Given the description of an element on the screen output the (x, y) to click on. 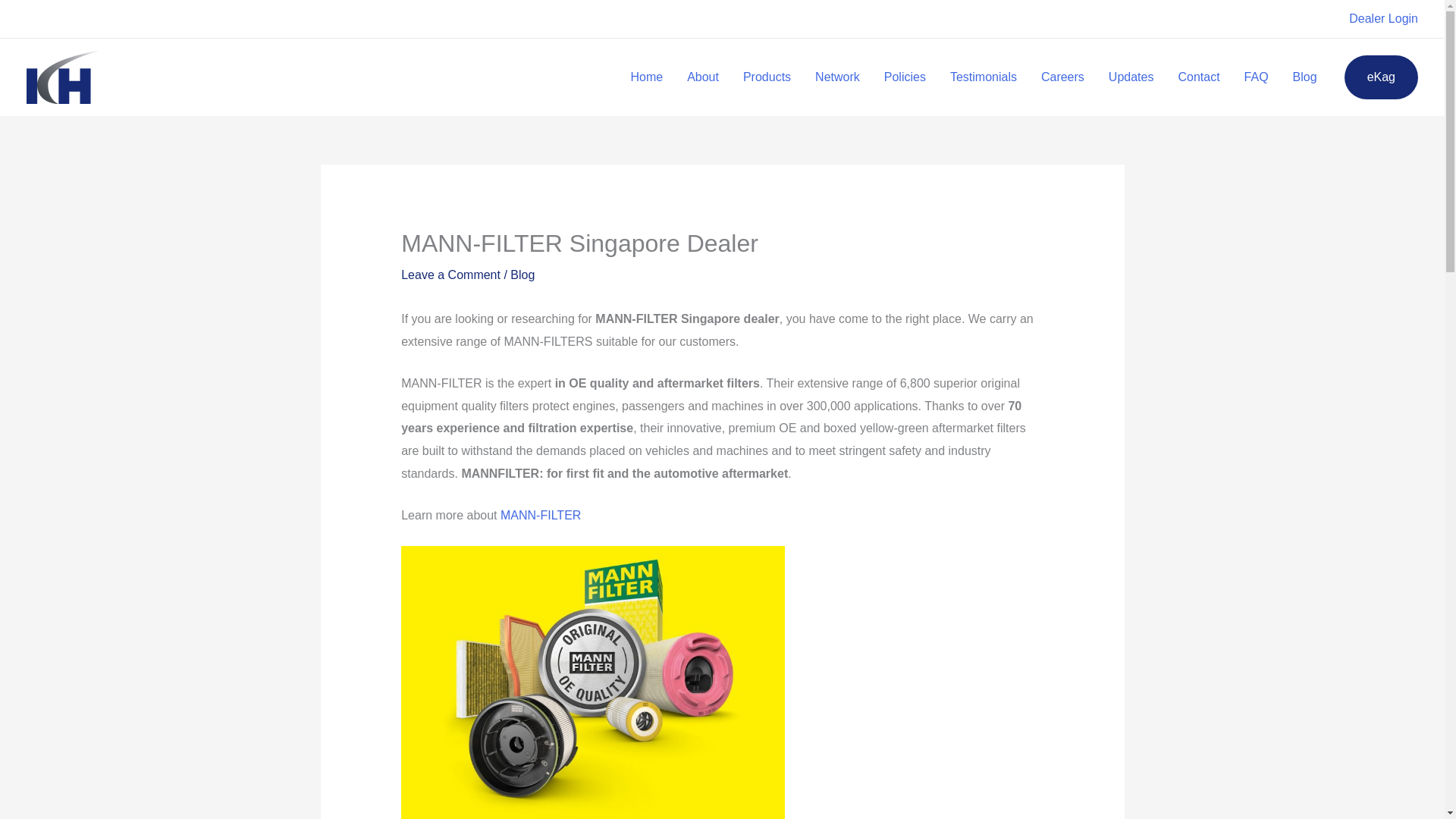
Testimonials (983, 76)
Careers (1062, 76)
Products (766, 76)
Policies (904, 76)
Blog (522, 274)
MANN-FILTER (540, 514)
Home (646, 76)
Leave a Comment (450, 274)
Dealer Login (1383, 18)
Network (837, 76)
